Given the description of an element on the screen output the (x, y) to click on. 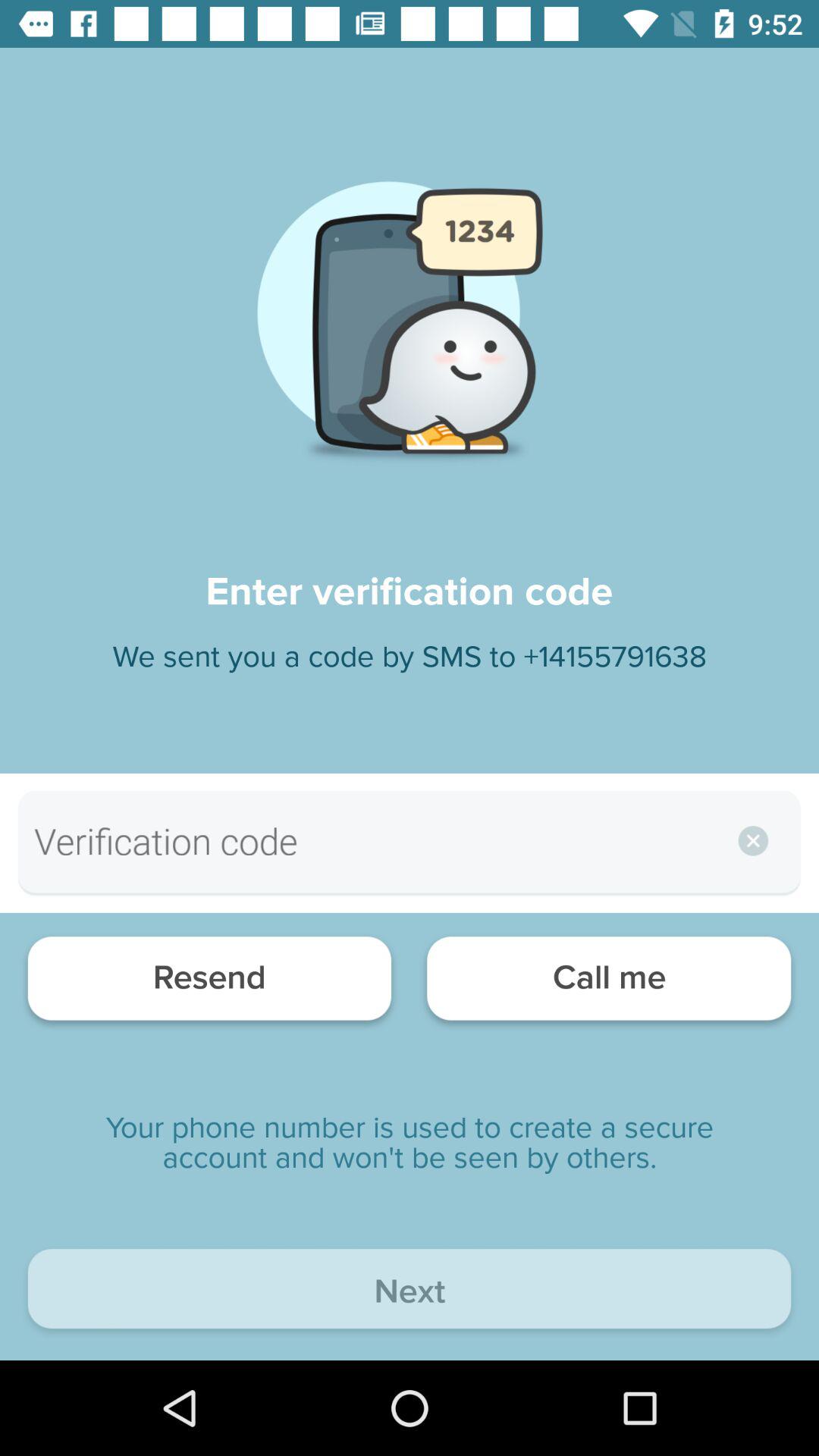
select the item to the right of resend item (609, 982)
